Given the description of an element on the screen output the (x, y) to click on. 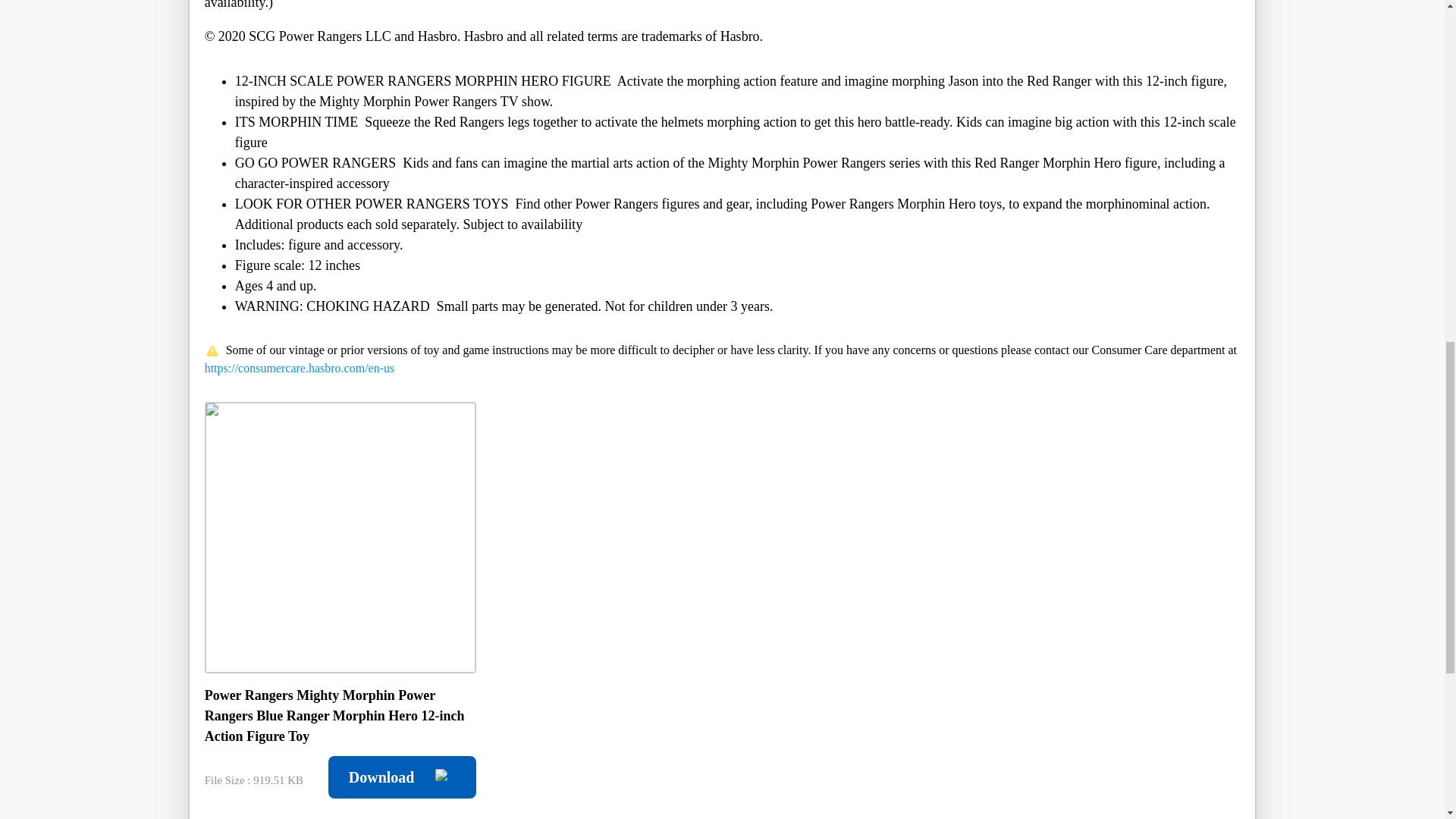
Download (402, 776)
